Given the description of an element on the screen output the (x, y) to click on. 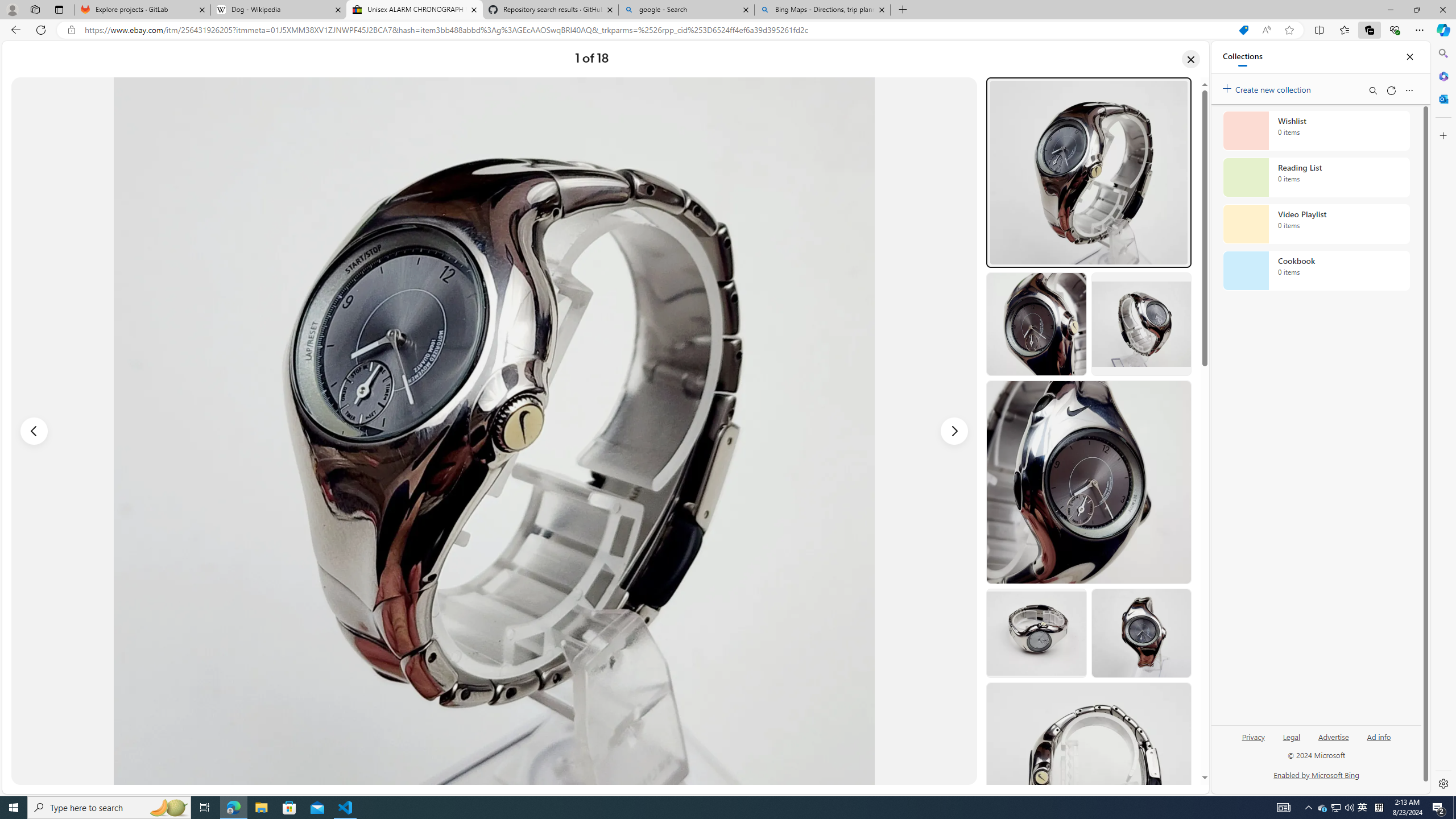
Picture 1 of 18 (493, 430)
Create new collection (1268, 87)
Reading List collection, 0 items (1316, 177)
